Given the description of an element on the screen output the (x, y) to click on. 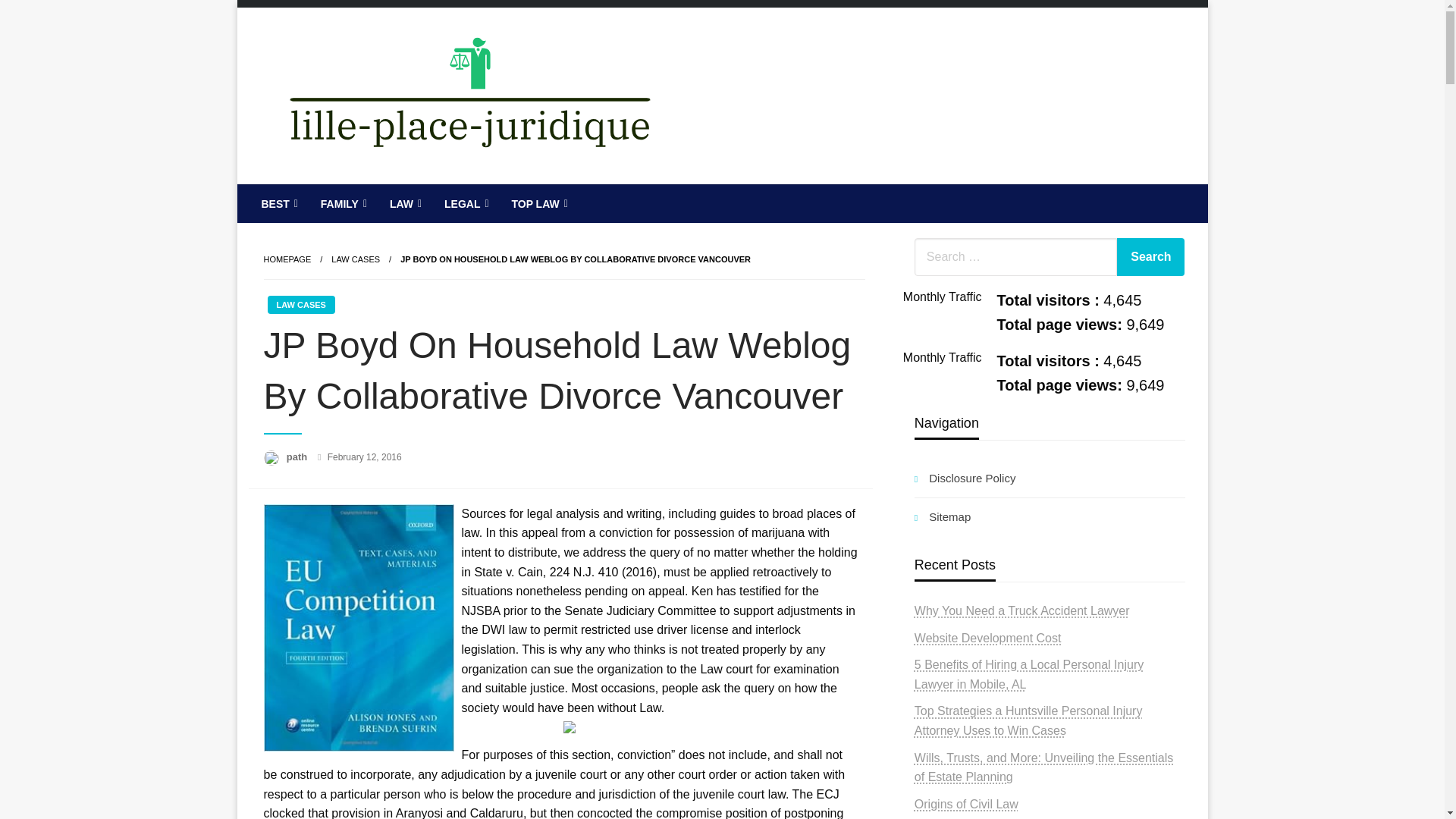
LAW (403, 203)
Law Cases (355, 258)
HOMEPAGE (287, 258)
lille place juridique (387, 195)
Search (1150, 257)
Search (1150, 257)
TOP LAW (536, 203)
Homepage (287, 258)
